Given the description of an element on the screen output the (x, y) to click on. 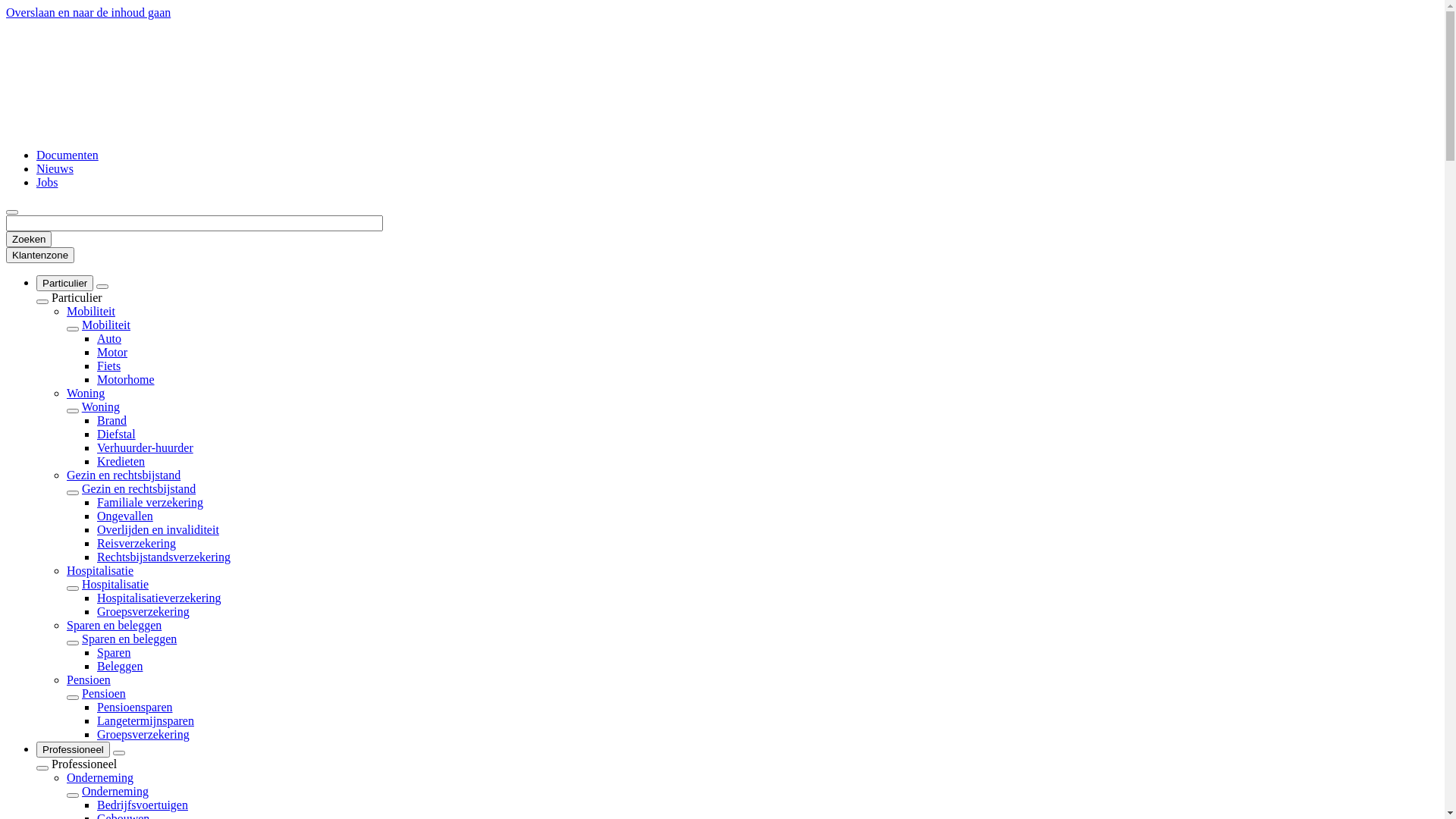
Groepsverzekering Element type: text (143, 734)
Brand Element type: text (111, 420)
Sparen en beleggen Element type: text (128, 638)
Onderneming Element type: text (114, 790)
Pensioen Element type: text (103, 693)
Diefstal Element type: text (116, 433)
Onderneming Element type: text (99, 777)
Jobs Element type: text (46, 181)
Nieuws Element type: text (54, 168)
Fiets Element type: text (108, 365)
Gezin en rechtsbijstand Element type: text (138, 488)
Sparen en beleggen Element type: text (113, 624)
Professioneel Element type: text (72, 749)
Pensioensparen Element type: text (134, 706)
Pensioen Element type: text (88, 679)
Overlijden en invaliditeit Element type: text (158, 529)
Motor Element type: text (112, 351)
Motorhome Element type: text (125, 379)
Verhuurder-huurder Element type: text (145, 447)
Sparen Element type: text (113, 652)
Ongevallen Element type: text (125, 515)
Mobiliteit Element type: text (90, 310)
Mobiliteit Element type: text (105, 324)
Beleggen Element type: text (119, 665)
Particulier Element type: text (64, 283)
Hospitalisatieverzekering Element type: text (159, 597)
Overslaan en naar de inhoud gaan Element type: text (88, 12)
Hospitalisatie Element type: text (114, 583)
Documenten Element type: text (67, 154)
Zoeken Element type: text (28, 239)
Woning Element type: text (100, 406)
Langetermijnsparen Element type: text (145, 720)
Auto Element type: text (109, 338)
Hospitalisatie Element type: text (99, 570)
Familiale verzekering Element type: text (150, 501)
Groepsverzekering Element type: text (143, 611)
Klantenzone Element type: text (40, 255)
Rechtsbijstandsverzekering Element type: text (163, 556)
Woning Element type: text (85, 392)
Gezin en rechtsbijstand Element type: text (123, 474)
Kredieten Element type: text (120, 461)
Reisverzekering Element type: text (136, 542)
Bedrijfsvoertuigen Element type: text (142, 804)
